Given the description of an element on the screen output the (x, y) to click on. 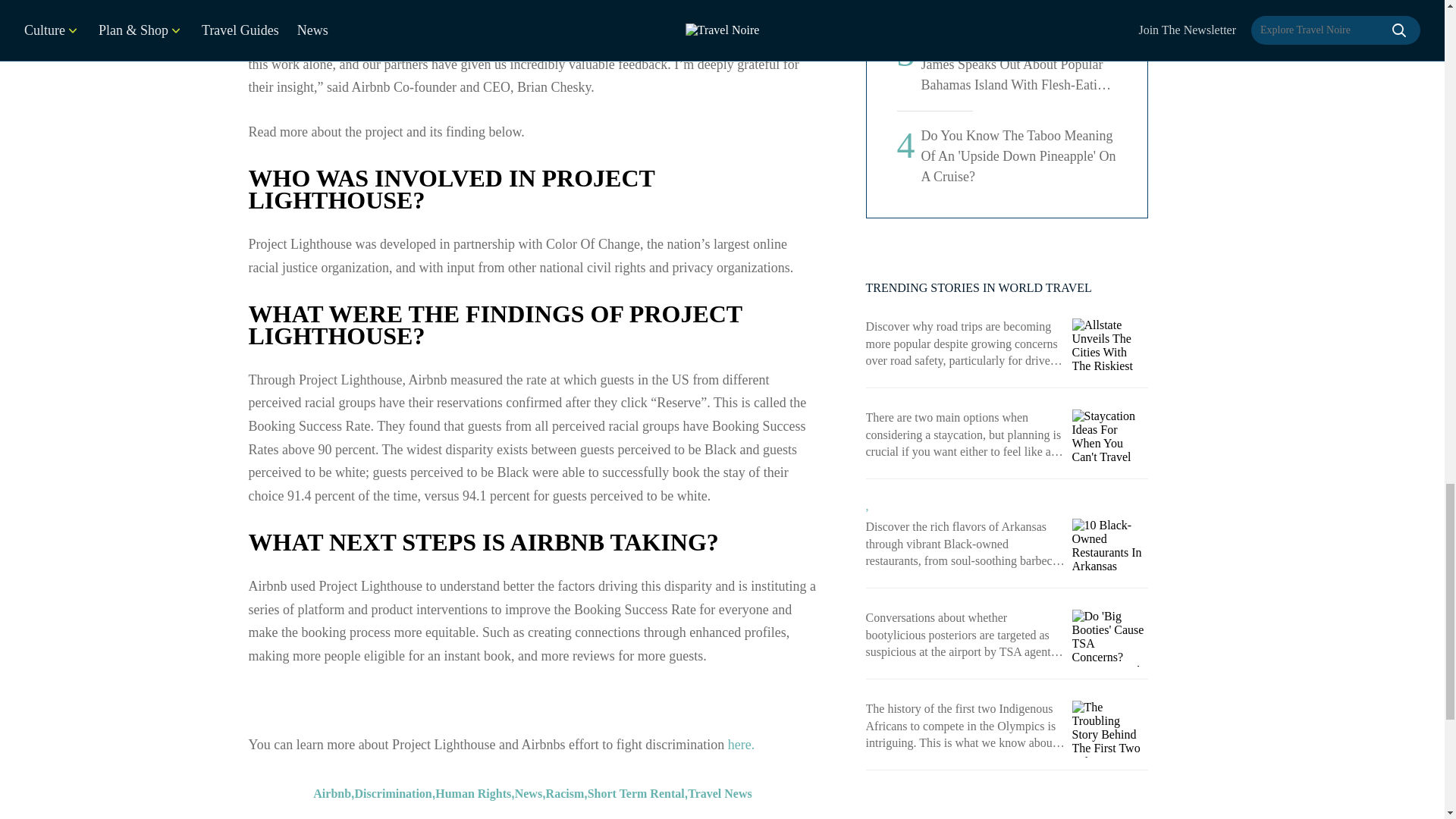
10 Black-Owned Restaurants In Arkansas (1109, 546)
Travel News (719, 346)
Human Rights (473, 346)
News (528, 346)
Airbnb (331, 346)
here. (741, 297)
Racism (565, 346)
Staycation Ideas For When You Can't Travel (1109, 437)
Discrimination (393, 346)
Short Term Rental (636, 346)
